Given the description of an element on the screen output the (x, y) to click on. 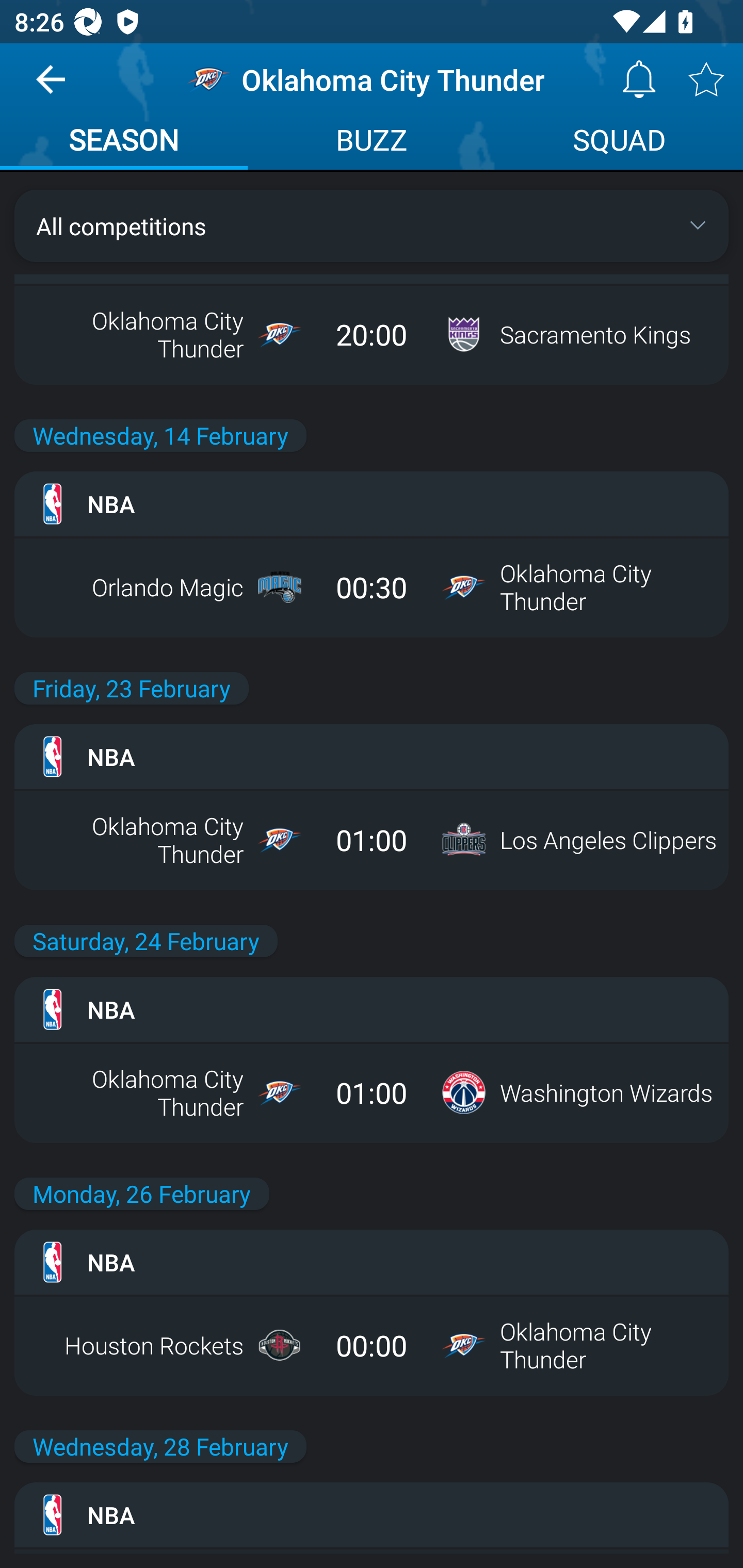
Navigate up (50, 86)
SEASON (123, 142)
BUZZ (371, 142)
SQUAD (619, 142)
All competitions (371, 225)
Oklahoma City Thunder 20:00 Sacramento Kings (371, 333)
NBA (371, 503)
Orlando Magic 00:30 Oklahoma City Thunder (371, 587)
NBA (371, 756)
Oklahoma City Thunder 01:00 Los Angeles Clippers (371, 839)
NBA (371, 1008)
Oklahoma City Thunder 01:00 Washington Wizards (371, 1092)
NBA (371, 1262)
Houston Rockets 00:00 Oklahoma City Thunder (371, 1345)
NBA (371, 1514)
